Given the description of an element on the screen output the (x, y) to click on. 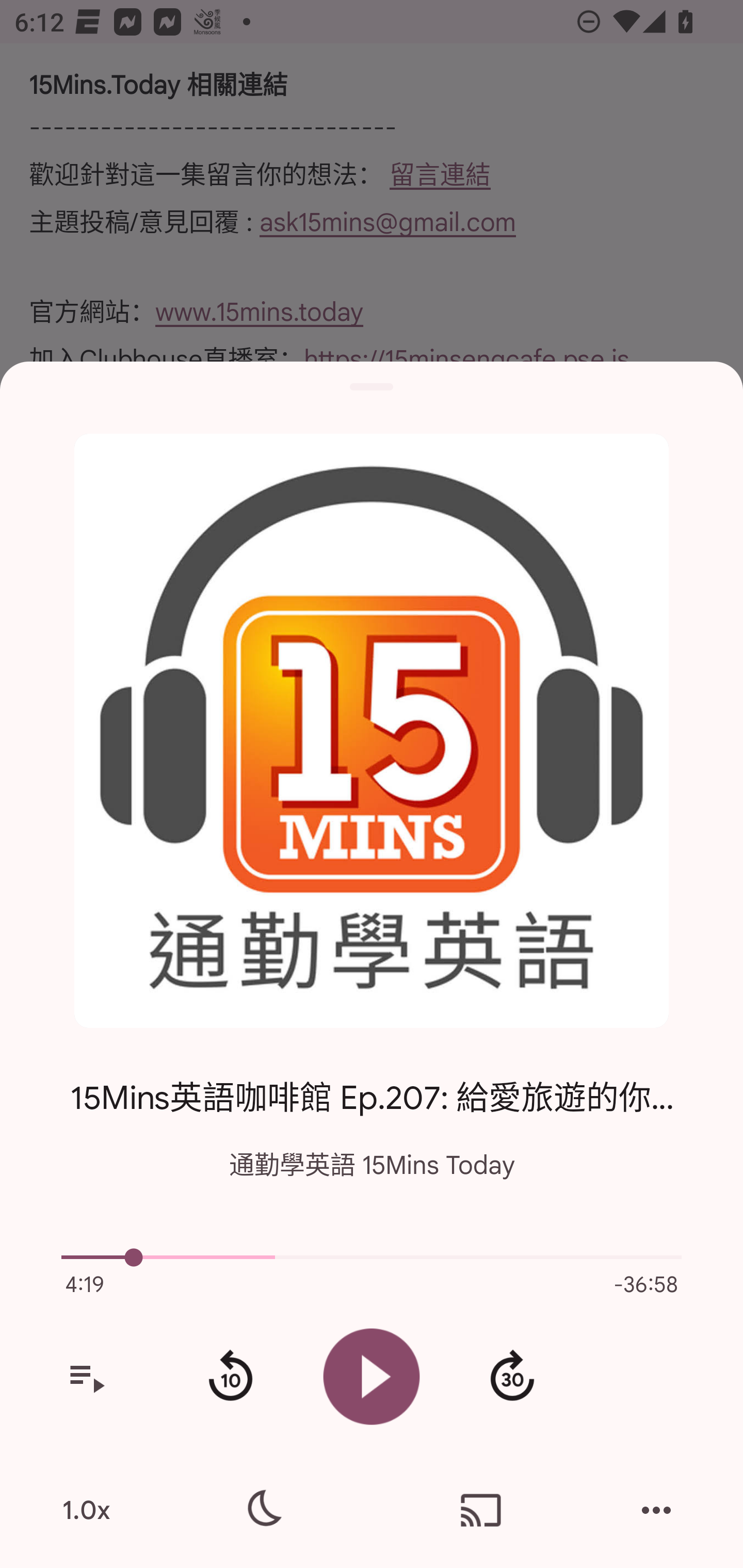
Open the show page for 通勤學英語 15Mins Today (371, 731)
1045.0 Current episode playback (371, 1257)
Play (371, 1376)
View your queue (86, 1376)
Rewind 10 seconds (230, 1376)
Fast forward 30 second (511, 1376)
1.0x Playback speed is 1.0. (86, 1510)
Sleep timer settings (261, 1510)
Cast. Disconnected (480, 1510)
More actions (655, 1510)
